Given the description of an element on the screen output the (x, y) to click on. 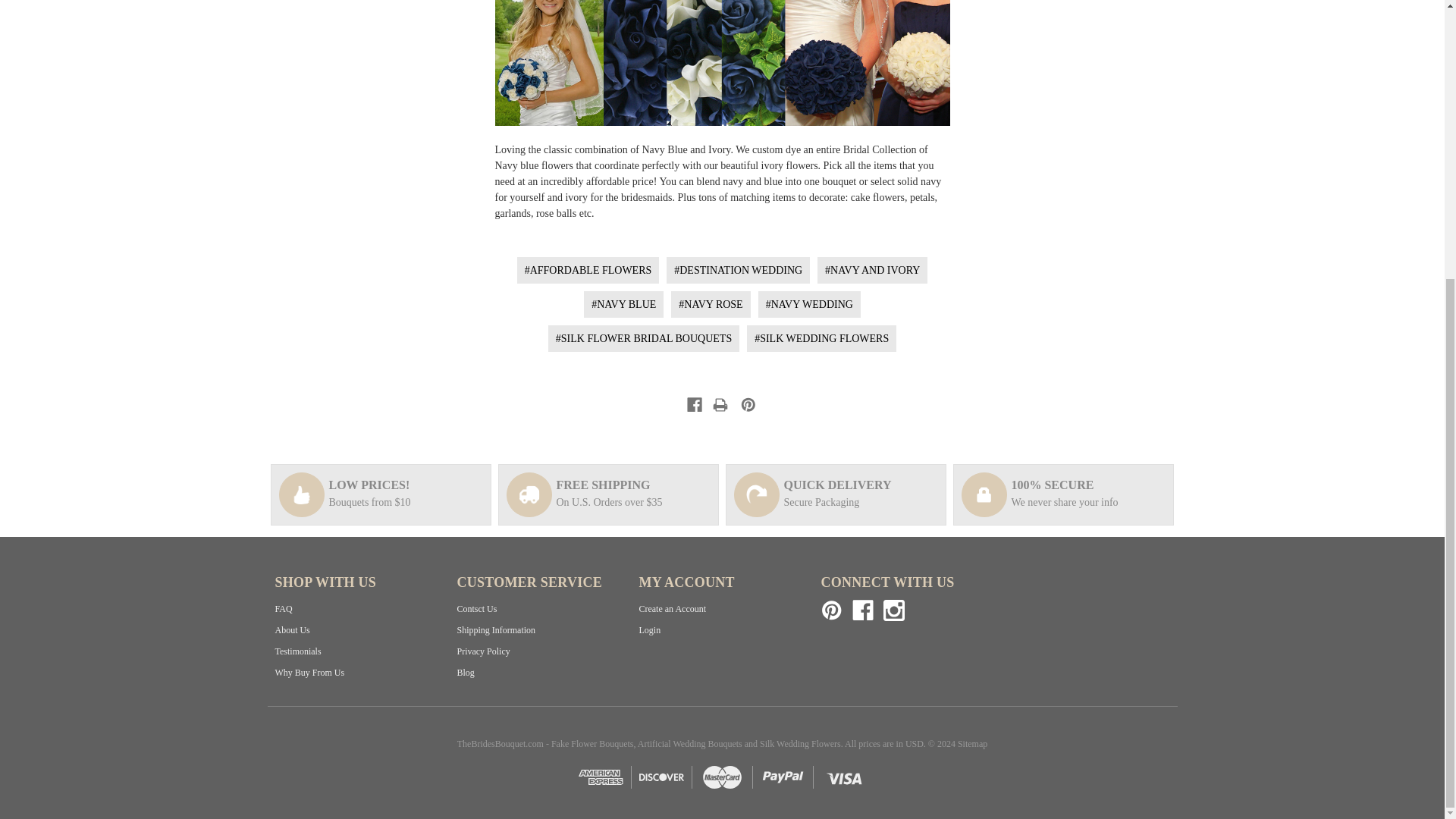
Why Buy From Us (309, 672)
Contact Us (476, 608)
Privacy Policy (483, 651)
Blog (465, 672)
Testimonials (297, 651)
Shipping Information (496, 629)
FAQ (283, 608)
About Us (291, 629)
